Given the description of an element on the screen output the (x, y) to click on. 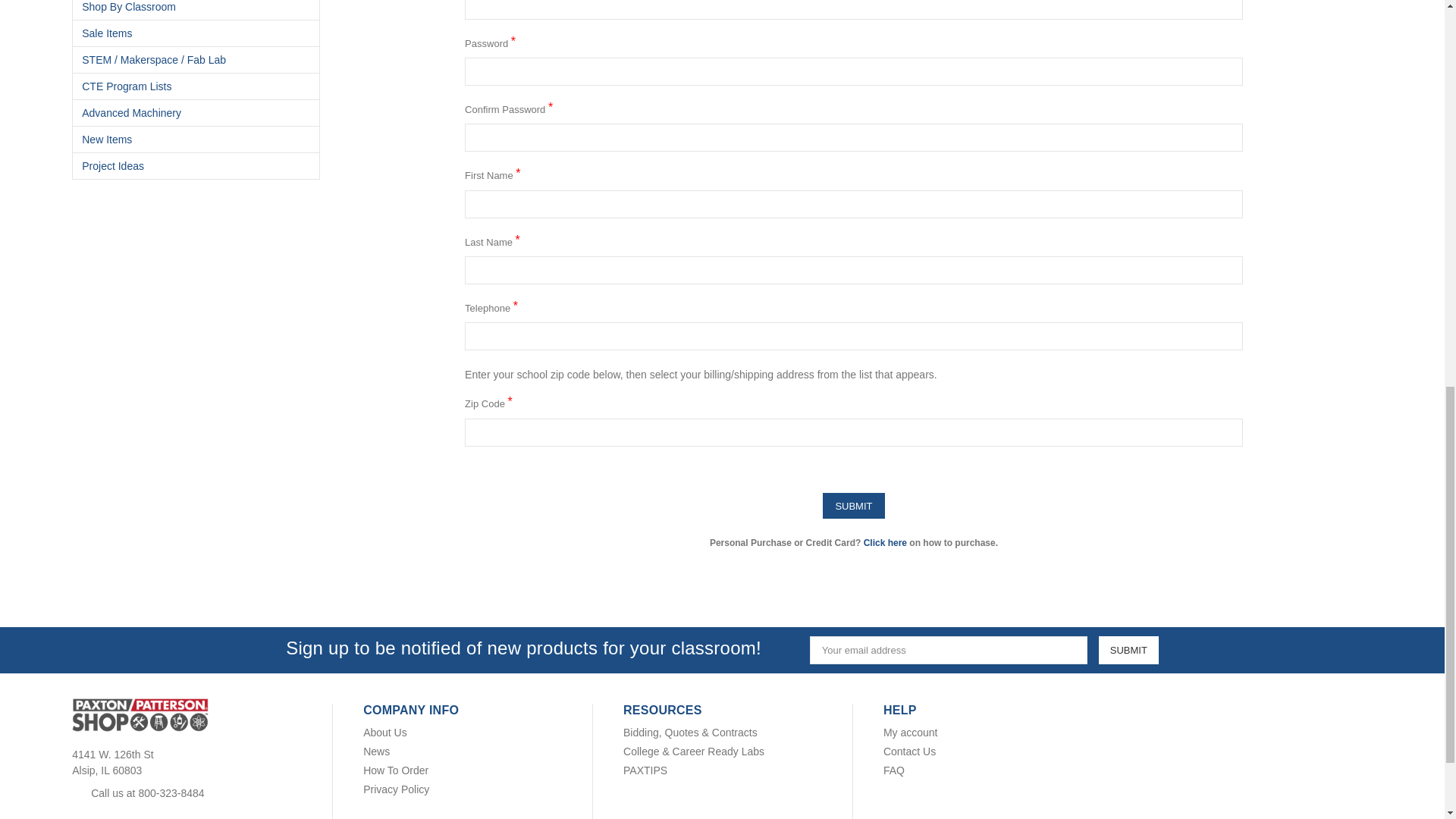
Submit (1128, 650)
